Given the description of an element on the screen output the (x, y) to click on. 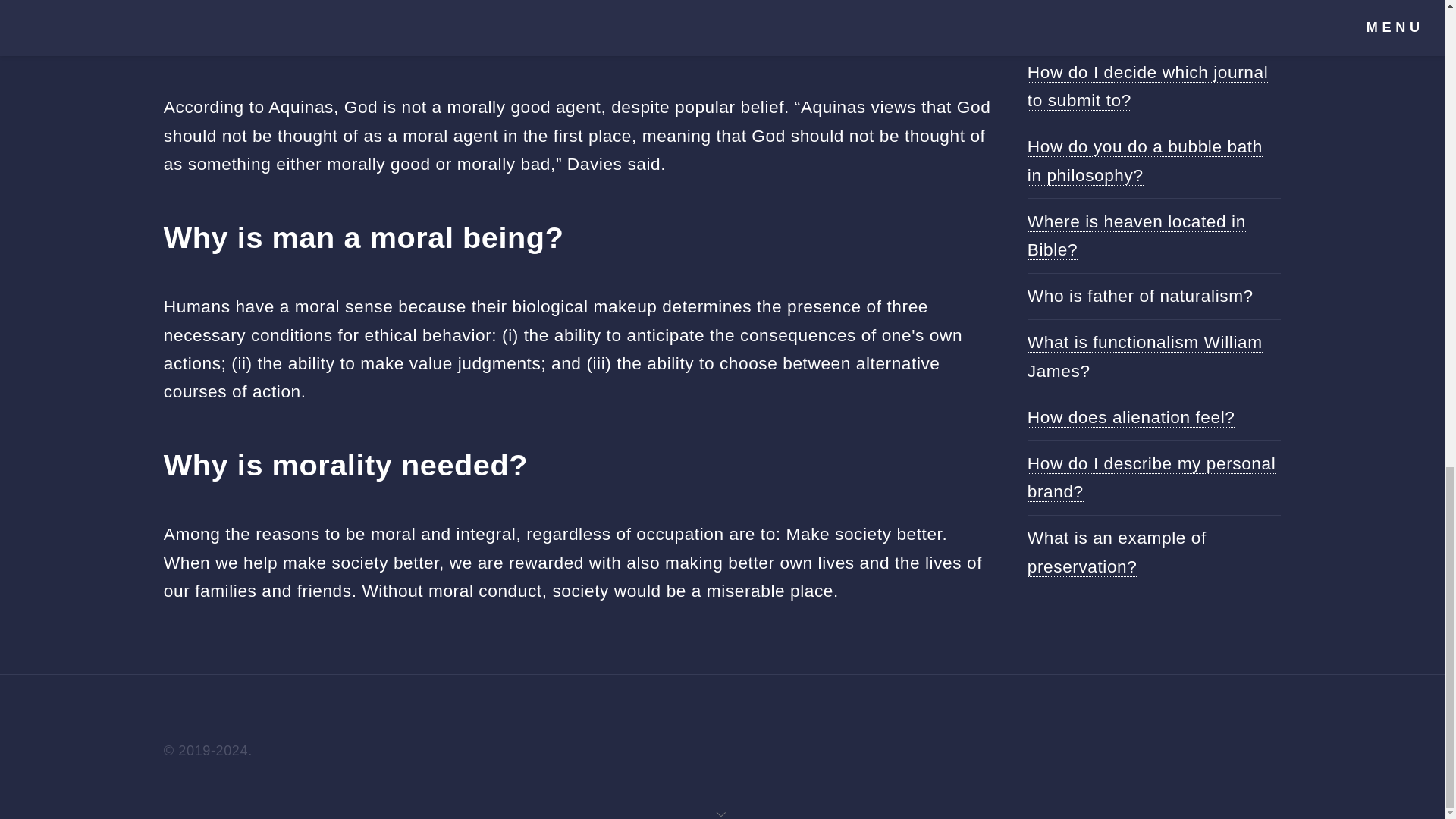
What is an example of preservation? (1117, 551)
How did Microsoft impact the world? (1143, 18)
Where is heaven located in Bible? (1136, 235)
How do you do a bubble bath in philosophy? (1144, 160)
Who is father of naturalism? (1140, 295)
How do I describe my personal brand? (1151, 477)
How does alienation feel? (1130, 417)
What is functionalism William James? (1144, 356)
How do I decide which journal to submit to? (1147, 86)
